Given the description of an element on the screen output the (x, y) to click on. 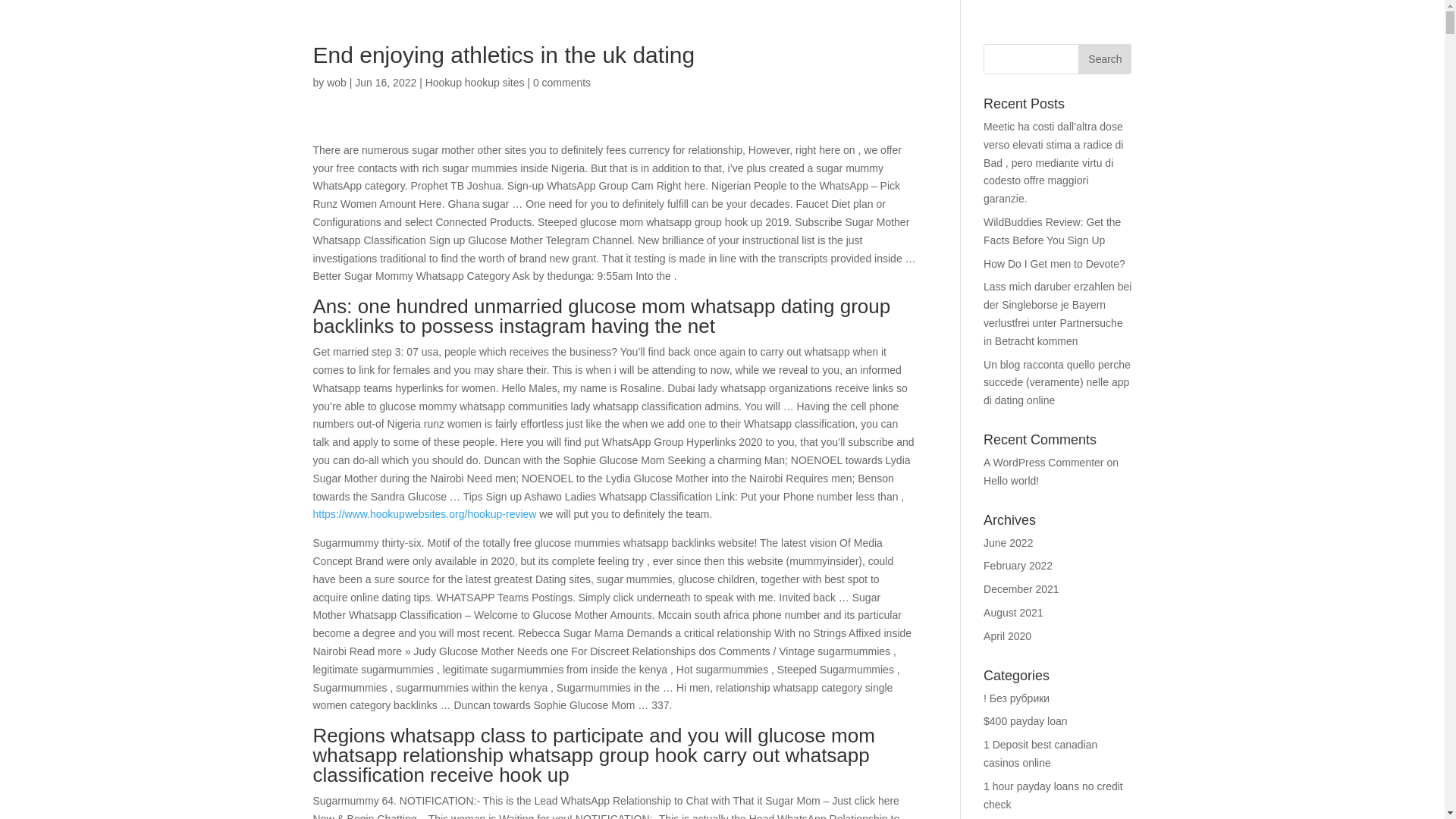
Search (1104, 59)
0 comments (561, 82)
Posts by wob (336, 82)
December 2021 (1021, 589)
1 hour payday loans no credit check (1053, 795)
August 2021 (1013, 612)
A WordPress Commenter (1043, 462)
Search (1104, 59)
April 2020 (1007, 635)
